Given the description of an element on the screen output the (x, y) to click on. 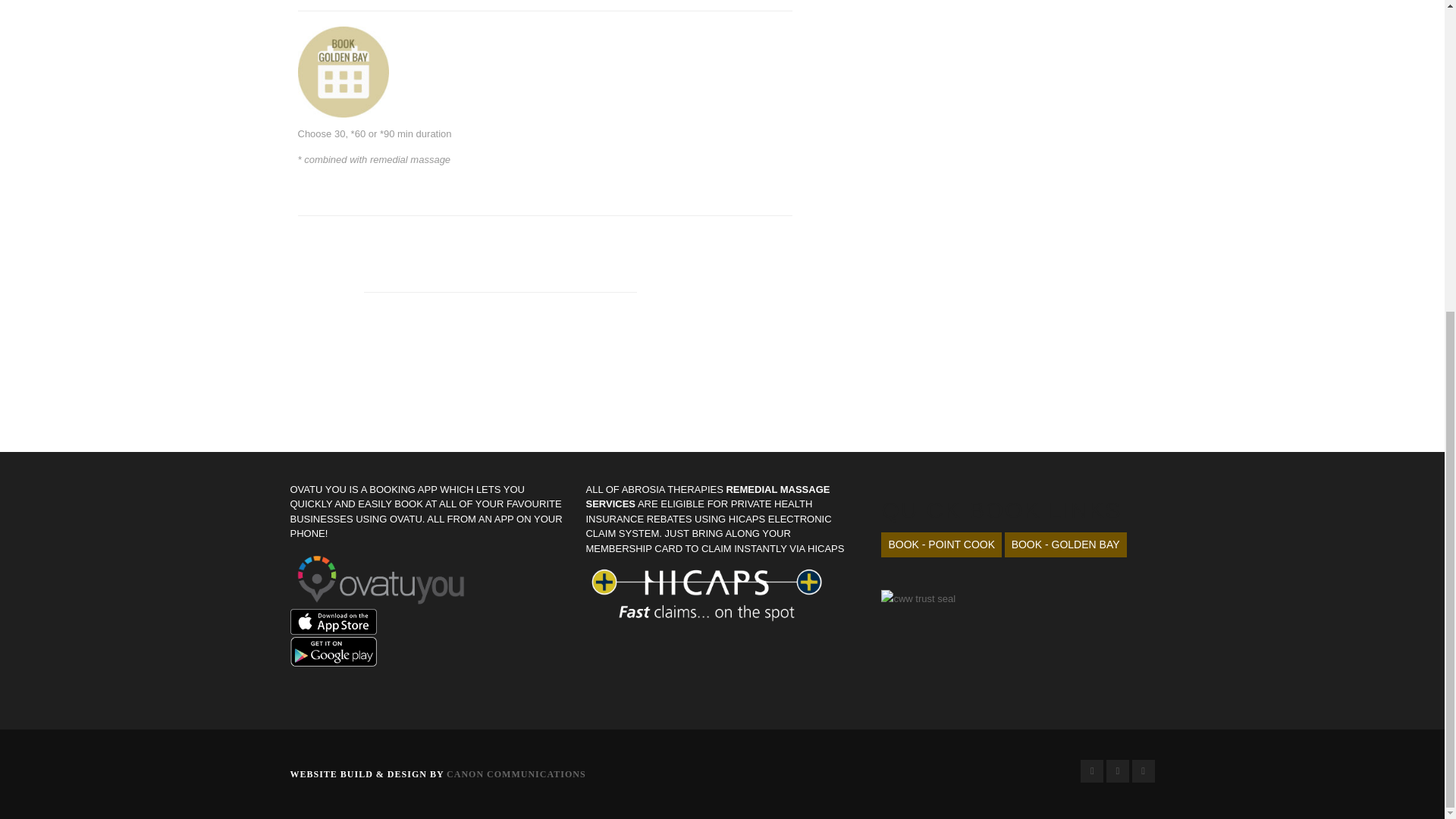
CANON COMMUNICATIONS (515, 774)
BOOK - POINT COOK (940, 544)
BOOK - GOLDEN BAY (1065, 544)
